Given the description of an element on the screen output the (x, y) to click on. 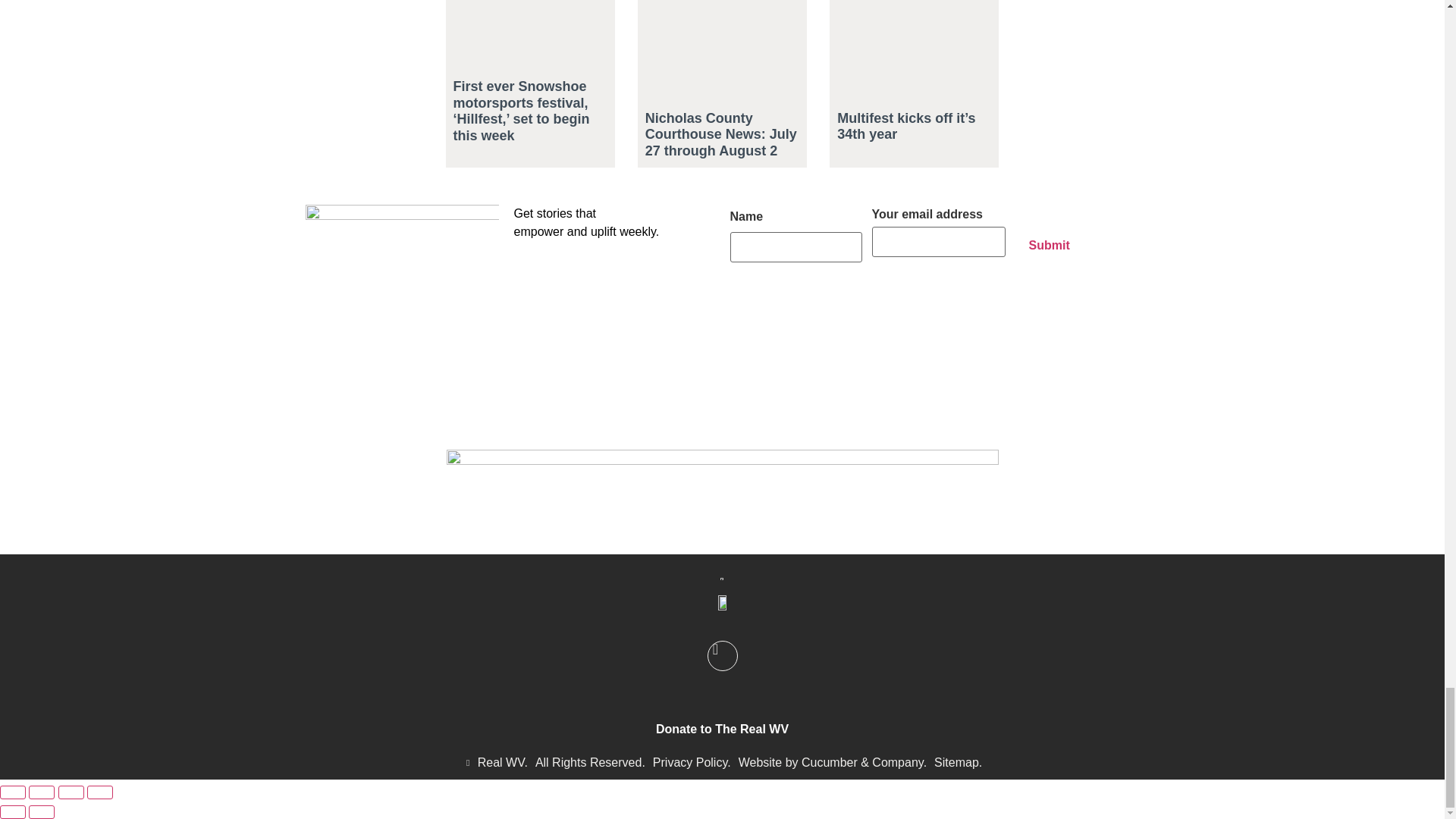
Donate to The Real WV (722, 728)
Submit (1048, 245)
Privacy Policy. (691, 762)
Submit (1048, 245)
Nicholas County Courthouse News: July 27 through August 2 (720, 134)
Sitemap. (957, 762)
